Given the description of an element on the screen output the (x, y) to click on. 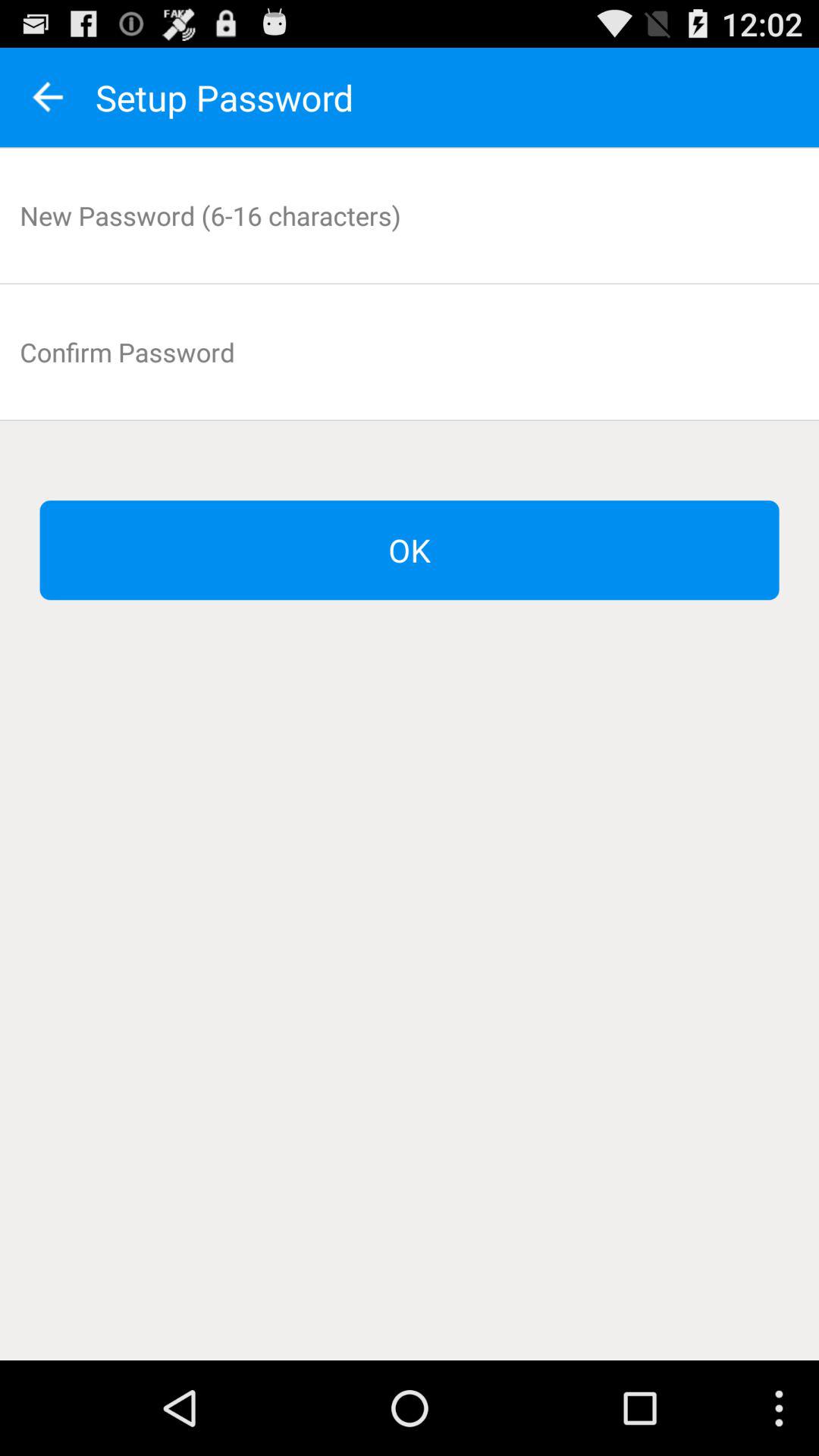
input new password (409, 215)
